Given the description of an element on the screen output the (x, y) to click on. 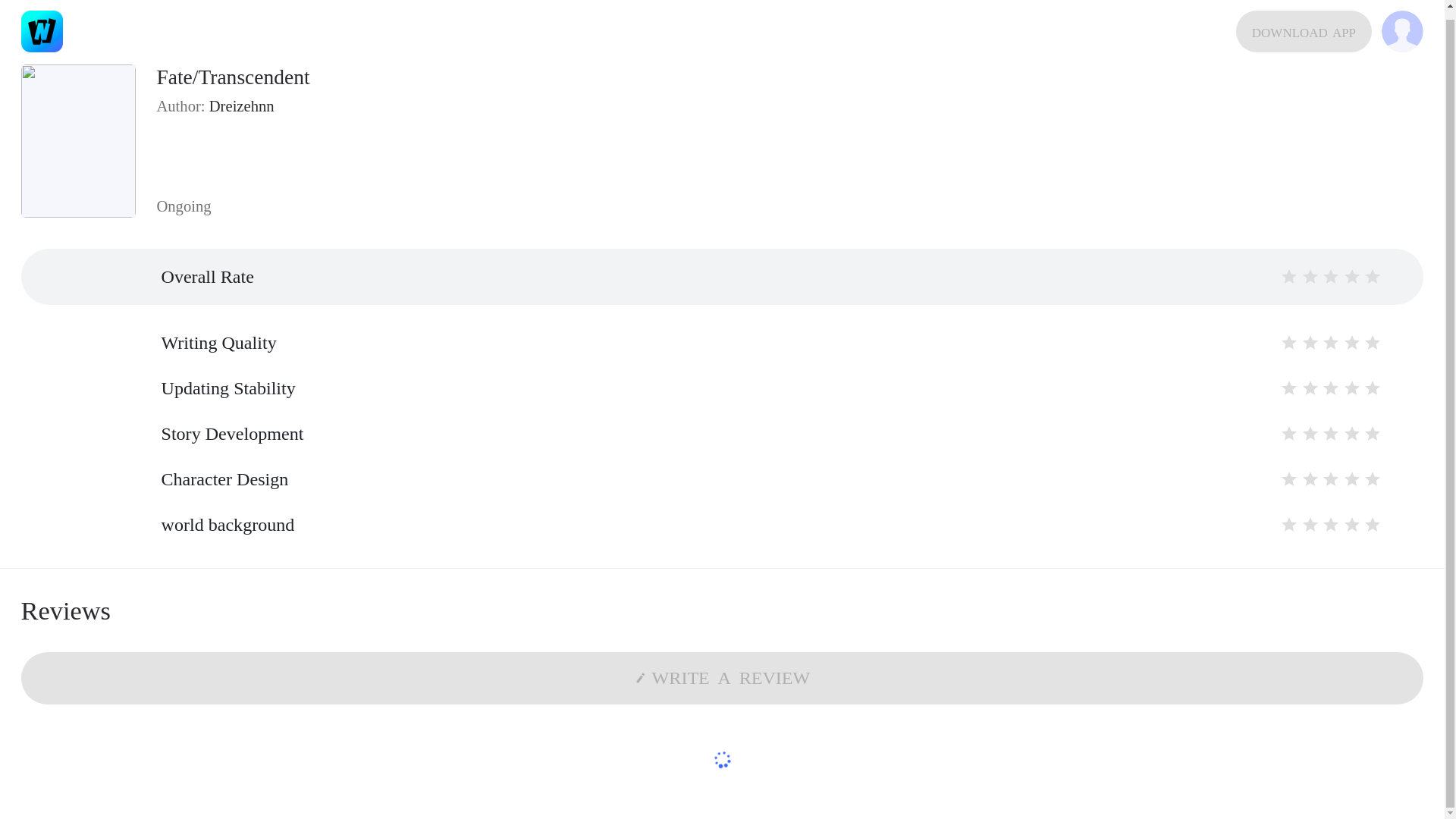
download app (1303, 23)
Webnovel (41, 23)
WRITE  A  REVIEW (722, 677)
